Given the description of an element on the screen output the (x, y) to click on. 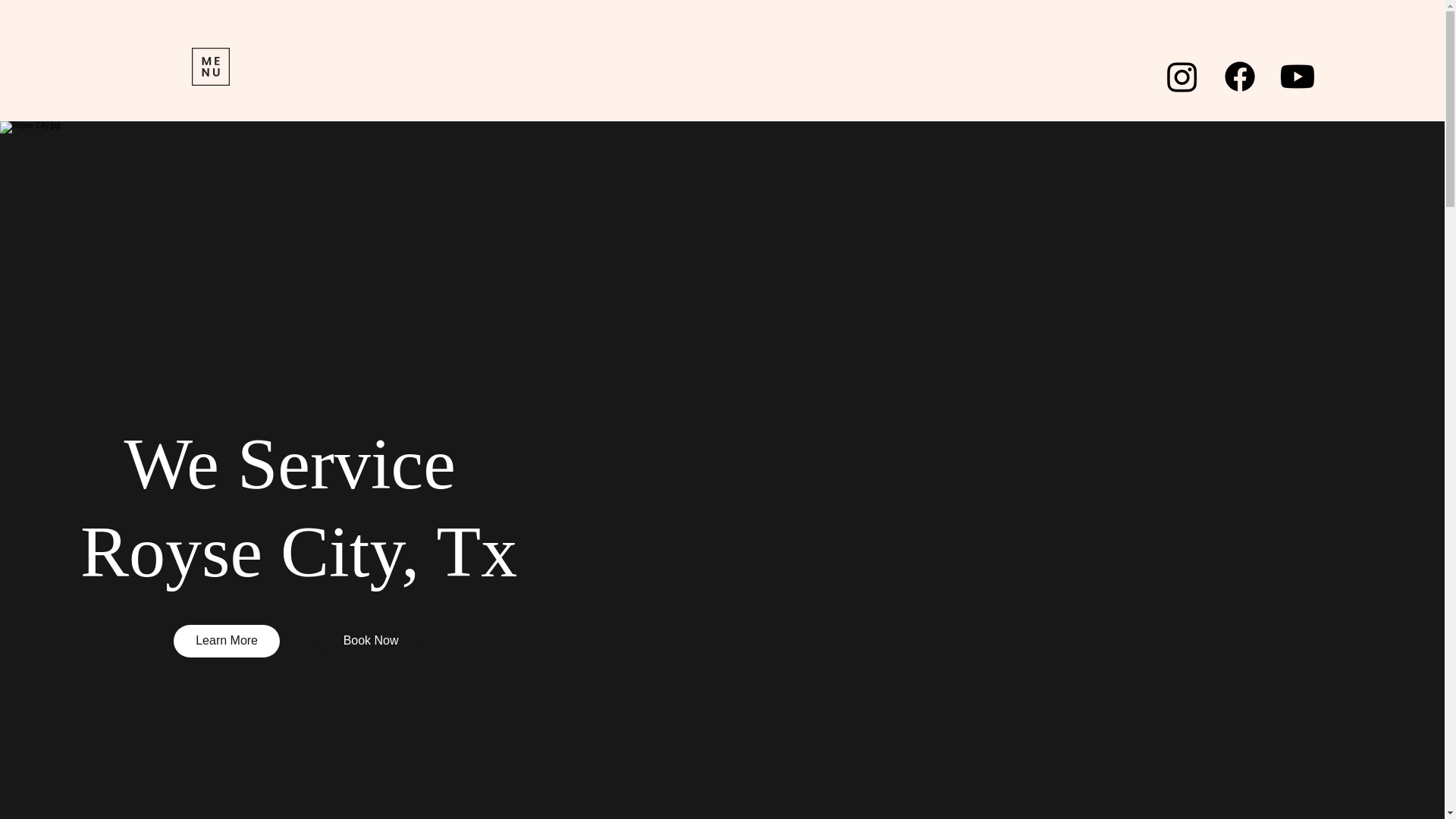
Book Now (370, 640)
